Given the description of an element on the screen output the (x, y) to click on. 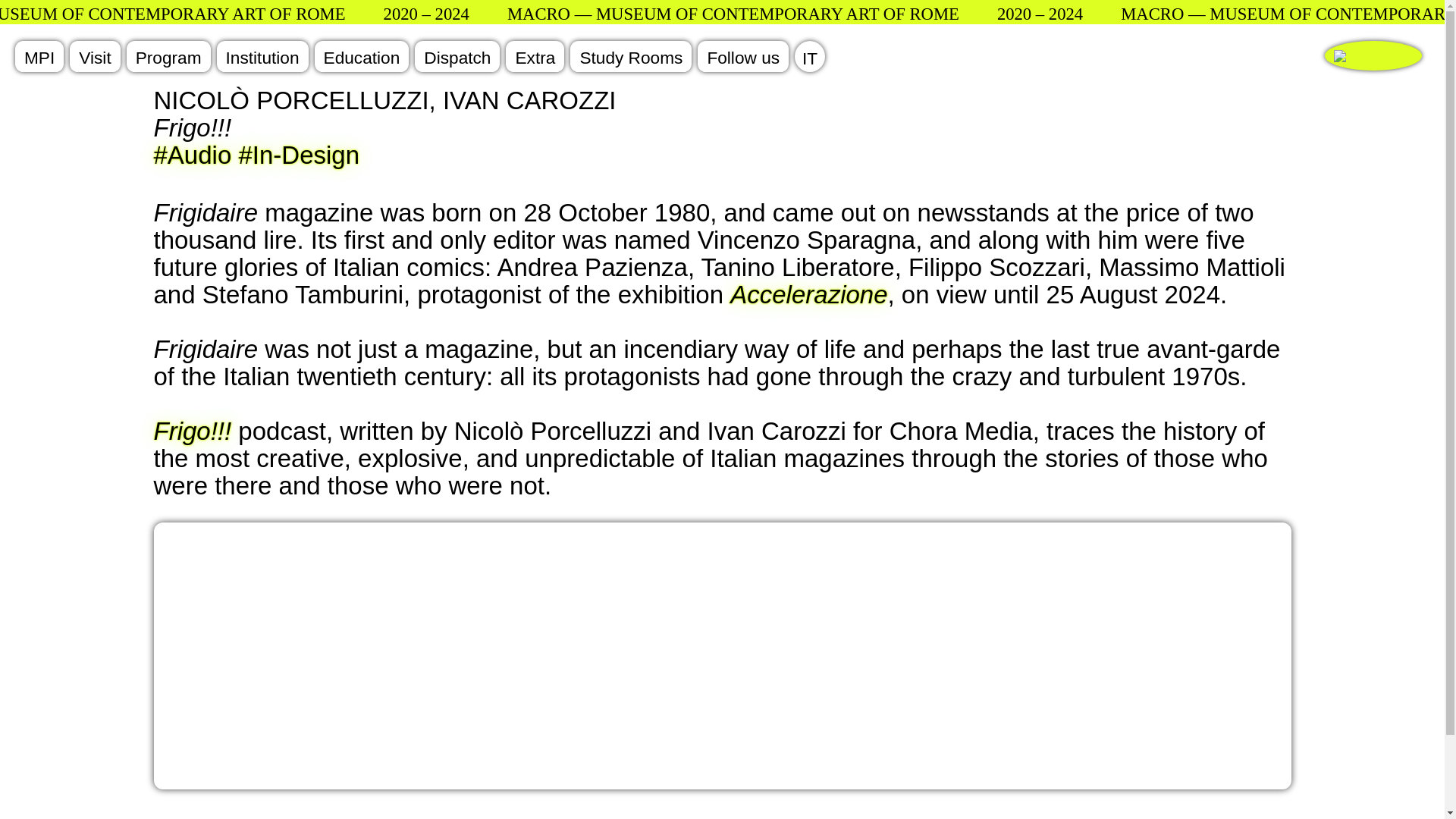
Institution (262, 56)
Program (168, 56)
MPI (39, 56)
Visit (94, 56)
Education (361, 56)
